Given the description of an element on the screen output the (x, y) to click on. 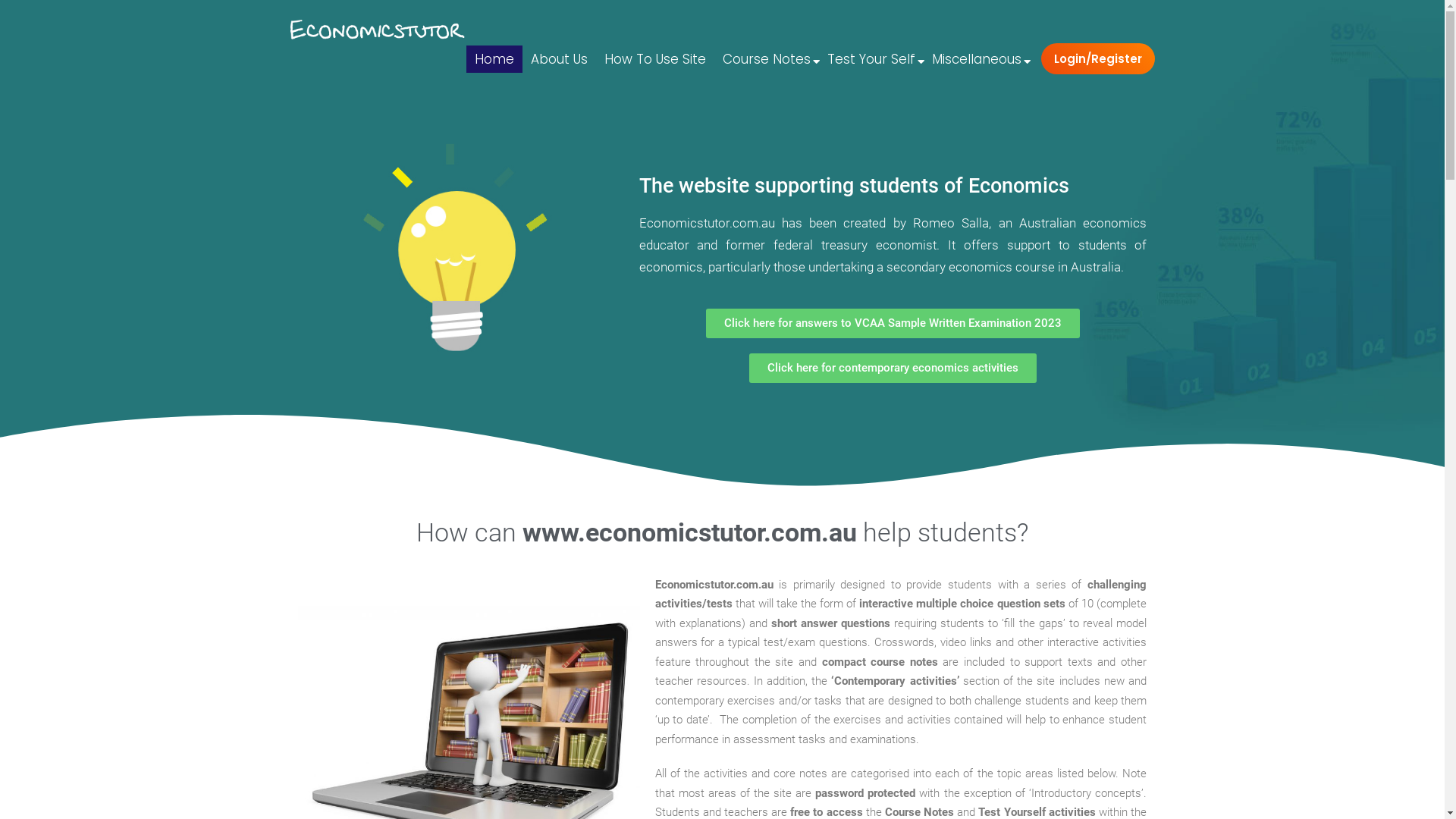
How To Use Site Element type: text (655, 58)
Miscellaneous Element type: text (976, 58)
Home Element type: text (493, 58)
Test Your Self Element type: text (871, 58)
Login/Register Element type: text (1097, 59)
Click here for contemporary economics activities Element type: text (892, 367)
Course Notes Element type: text (766, 58)
About Us Element type: text (558, 58)
